Given the description of an element on the screen output the (x, y) to click on. 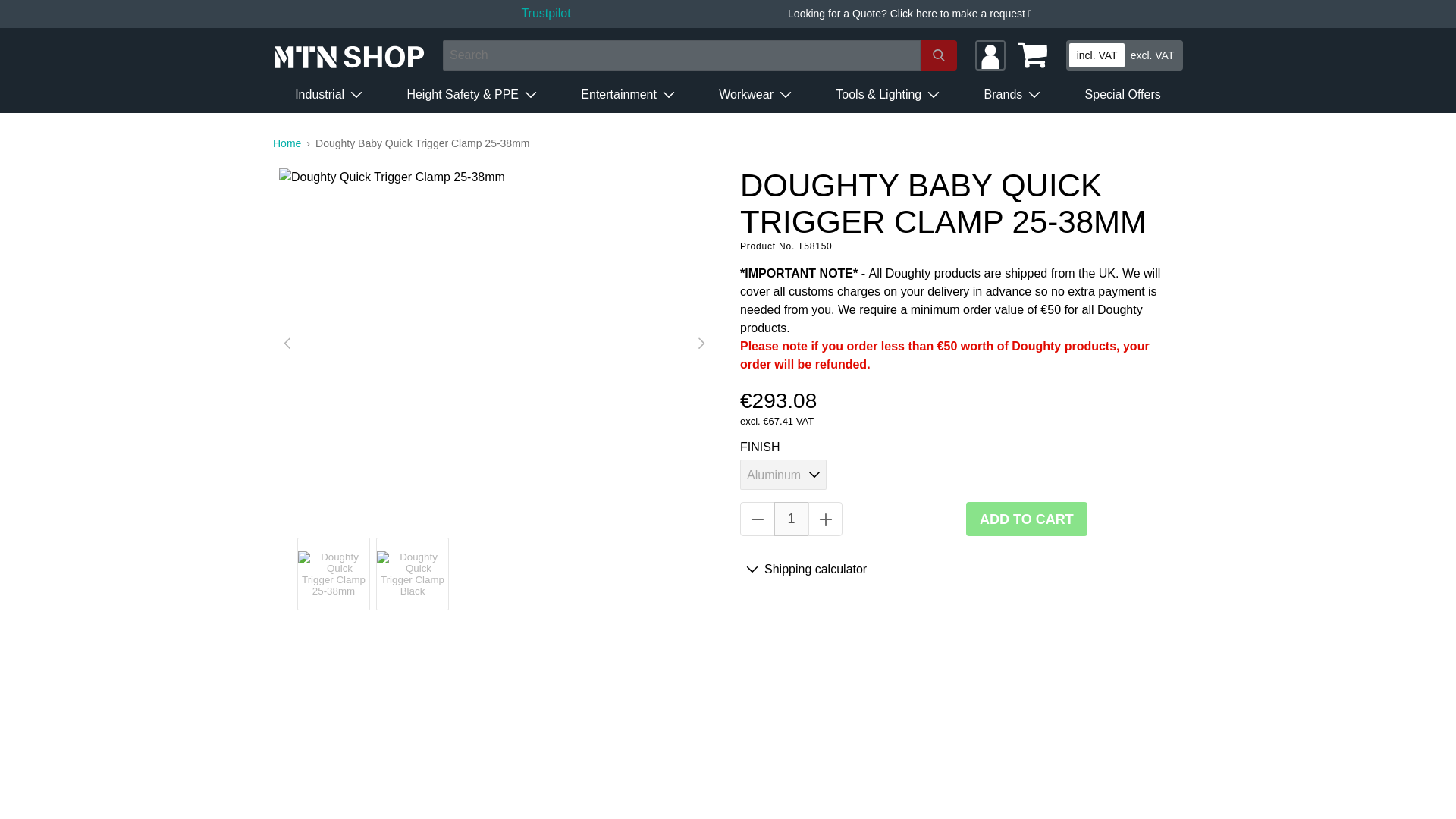
1 (791, 519)
Industrial (328, 94)
Trustpilot (545, 12)
MTN Shop EU (294, 143)
Log in (990, 55)
Cart (1032, 55)
